Given the description of an element on the screen output the (x, y) to click on. 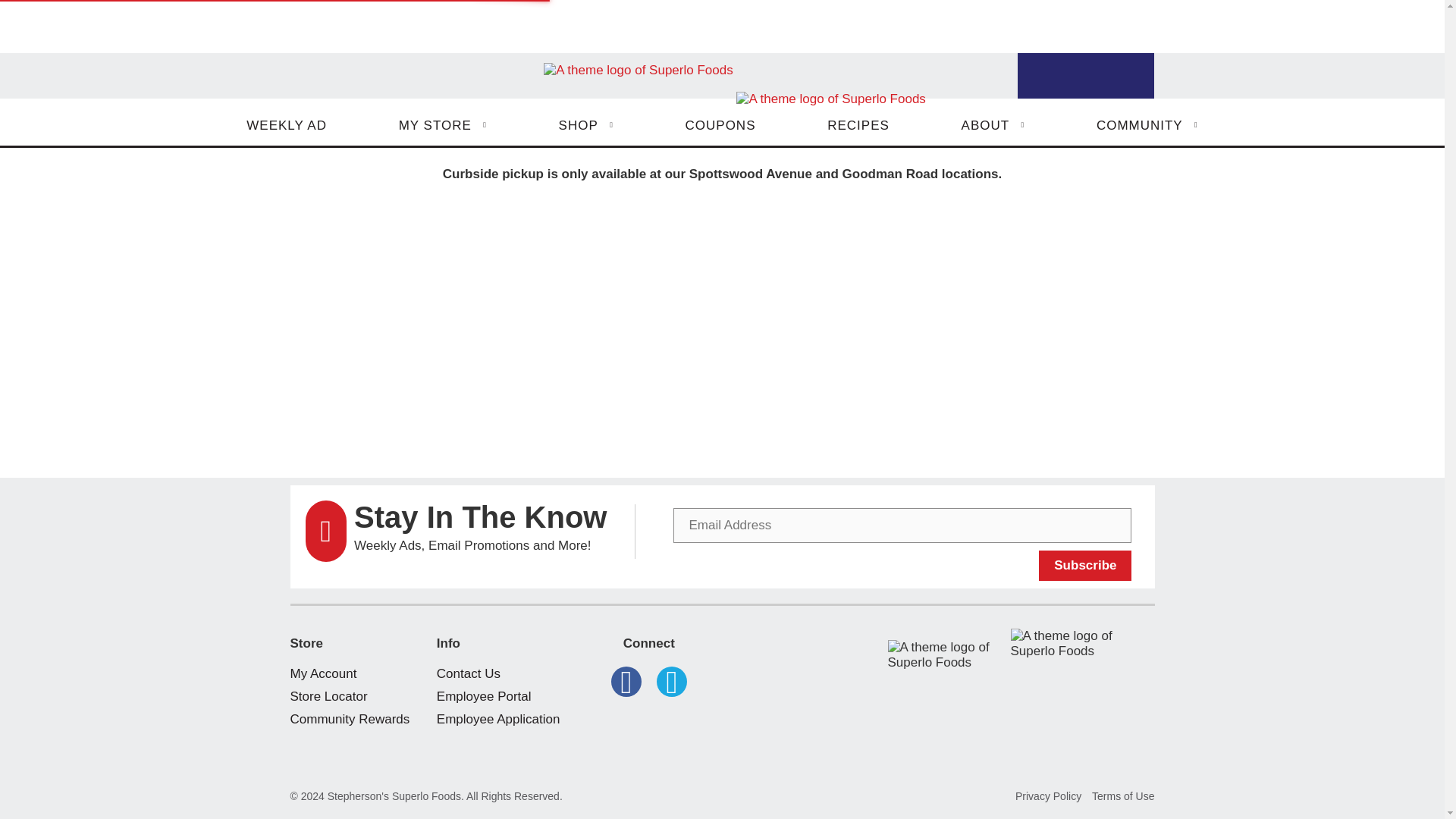
MY STORE (443, 125)
WEEKLY AD (286, 125)
My Account (322, 673)
Subscribe (1085, 565)
ABOUT (992, 125)
COMMUNITY (1147, 125)
Subscribe (1085, 565)
COUPONS (720, 125)
Twitter (671, 681)
RECIPES (857, 125)
SHOP (586, 125)
Privacy Policy (1047, 796)
Community Rewards (349, 719)
Terms of Use (1123, 796)
Contact Us (468, 673)
